Given the description of an element on the screen output the (x, y) to click on. 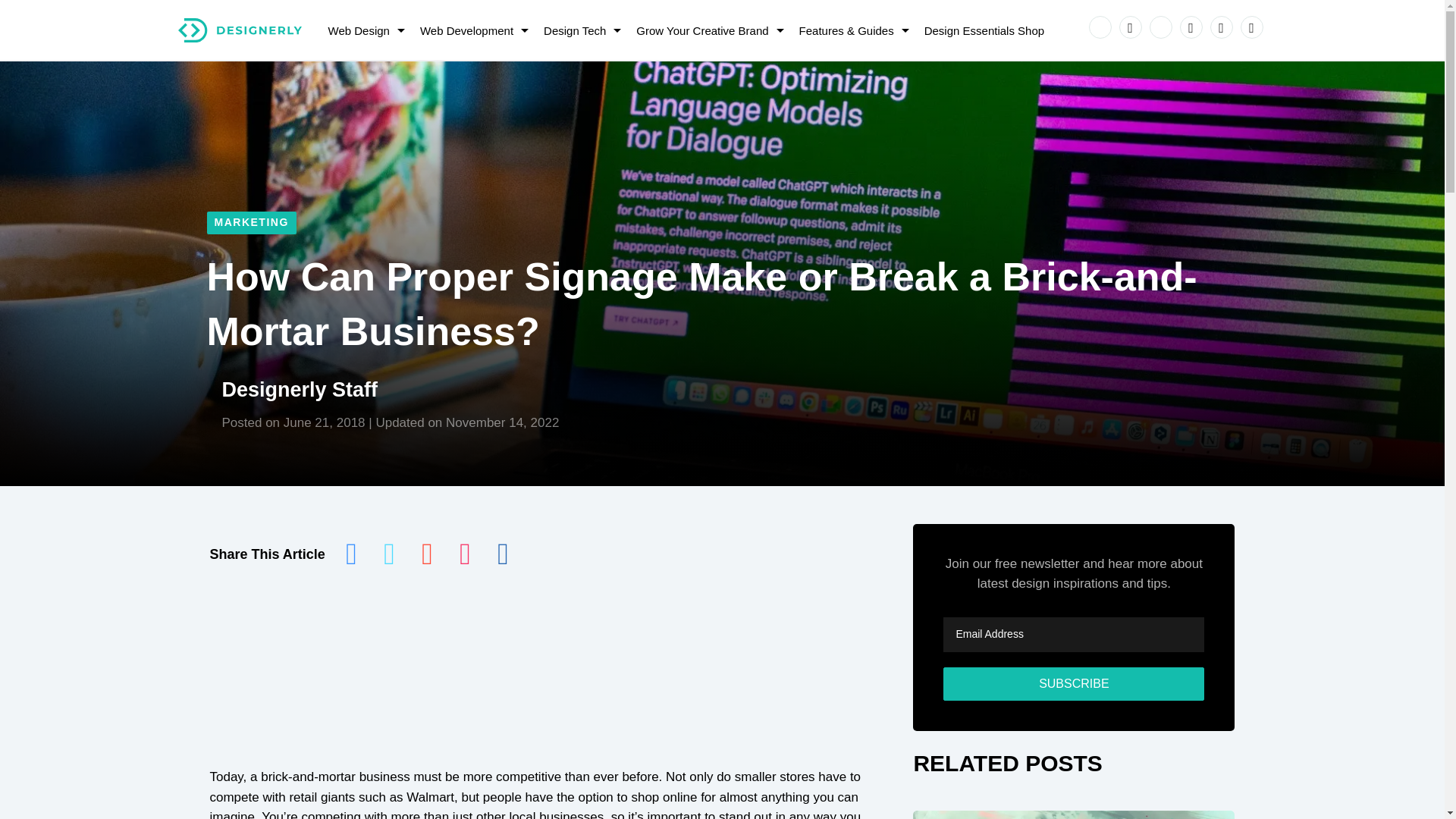
MARKETING (250, 222)
Designerly Staff (299, 389)
Web Design (363, 30)
Design Essentials Shop (983, 30)
Advertisement (545, 684)
Web Development (470, 30)
Design Tech (578, 30)
Grow Your Creative Brand (705, 30)
